Given the description of an element on the screen output the (x, y) to click on. 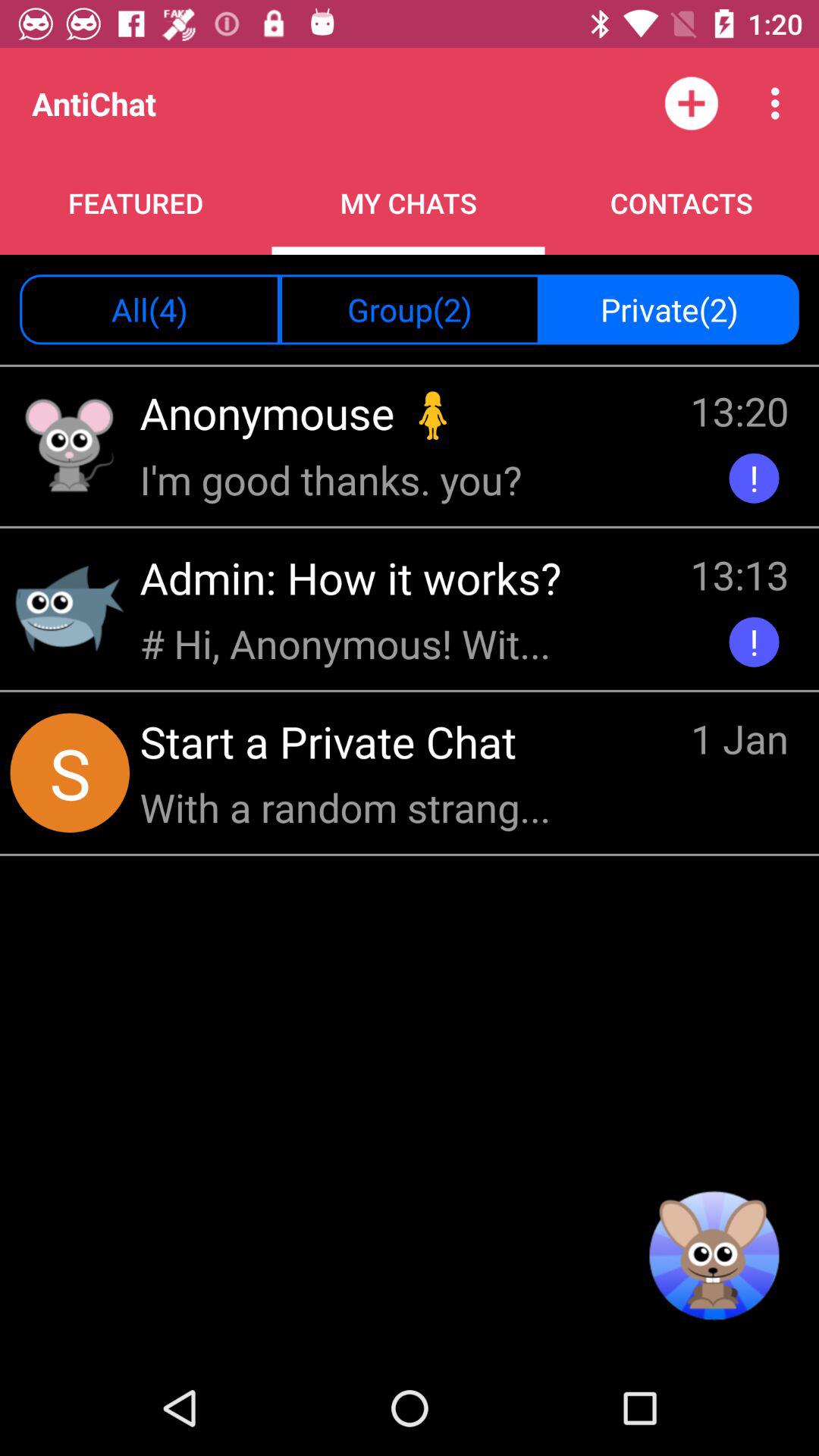
open the item next to with a random (739, 741)
